Given the description of an element on the screen output the (x, y) to click on. 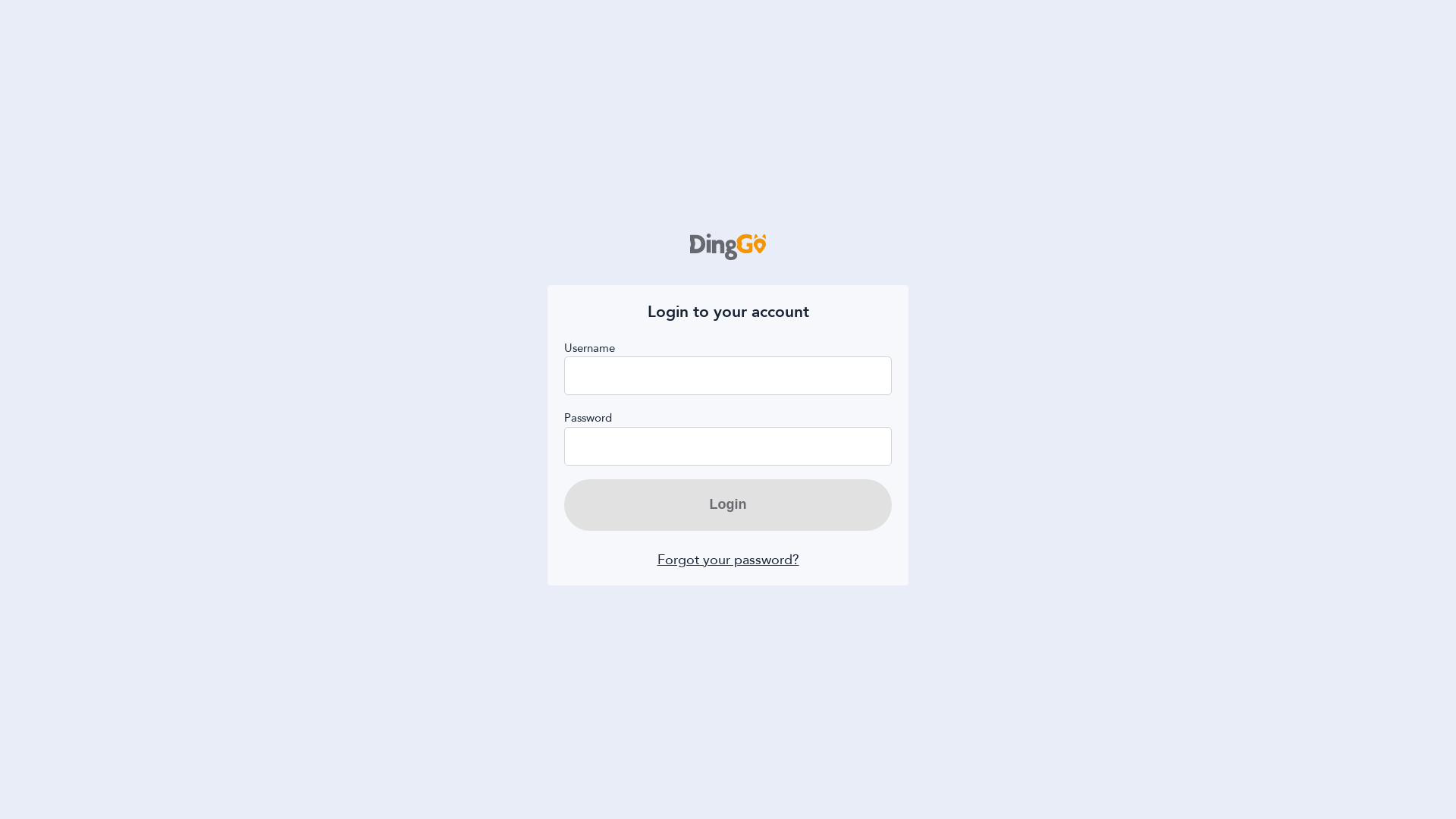
Forgot your password? Element type: text (727, 559)
Login Element type: text (727, 504)
